Given the description of an element on the screen output the (x, y) to click on. 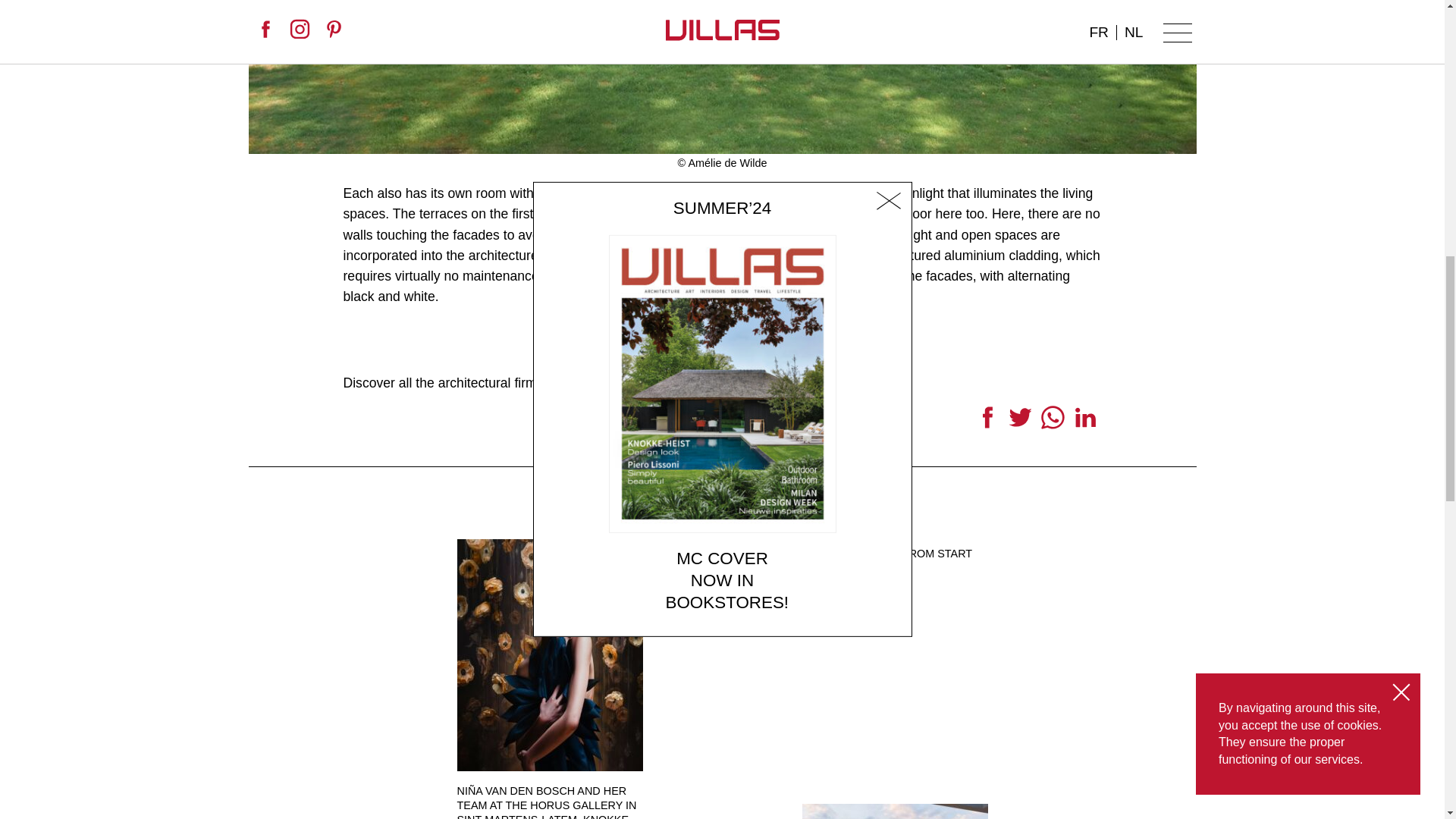
More articles News (722, 514)
LinkedIn (1085, 421)
Facebook (987, 421)
LinkedIn (1085, 421)
Twitter (1020, 421)
Facebook (987, 421)
WhatsApp (1051, 421)
Twitter (1020, 421)
WhatsApp (1051, 421)
